Given the description of an element on the screen output the (x, y) to click on. 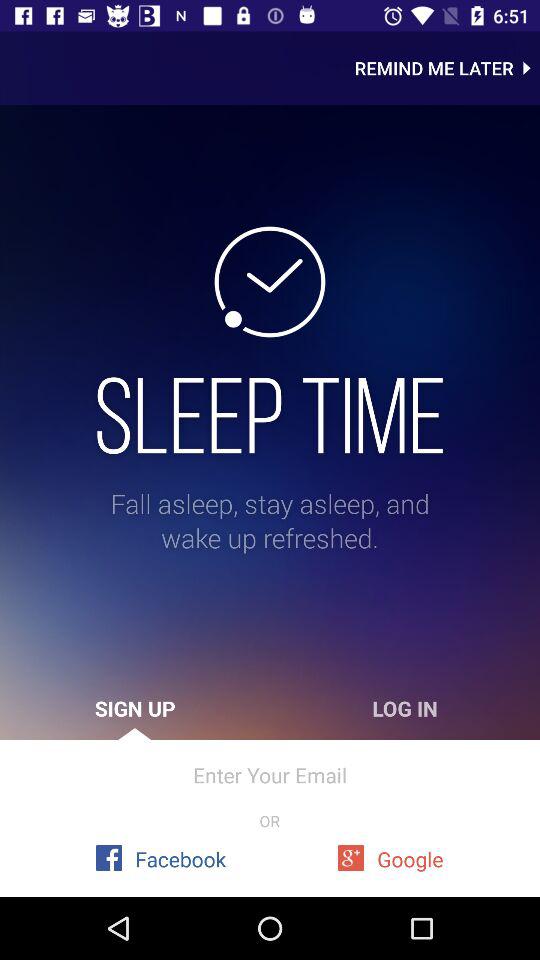
launch item below sign up icon (270, 774)
